Given the description of an element on the screen output the (x, y) to click on. 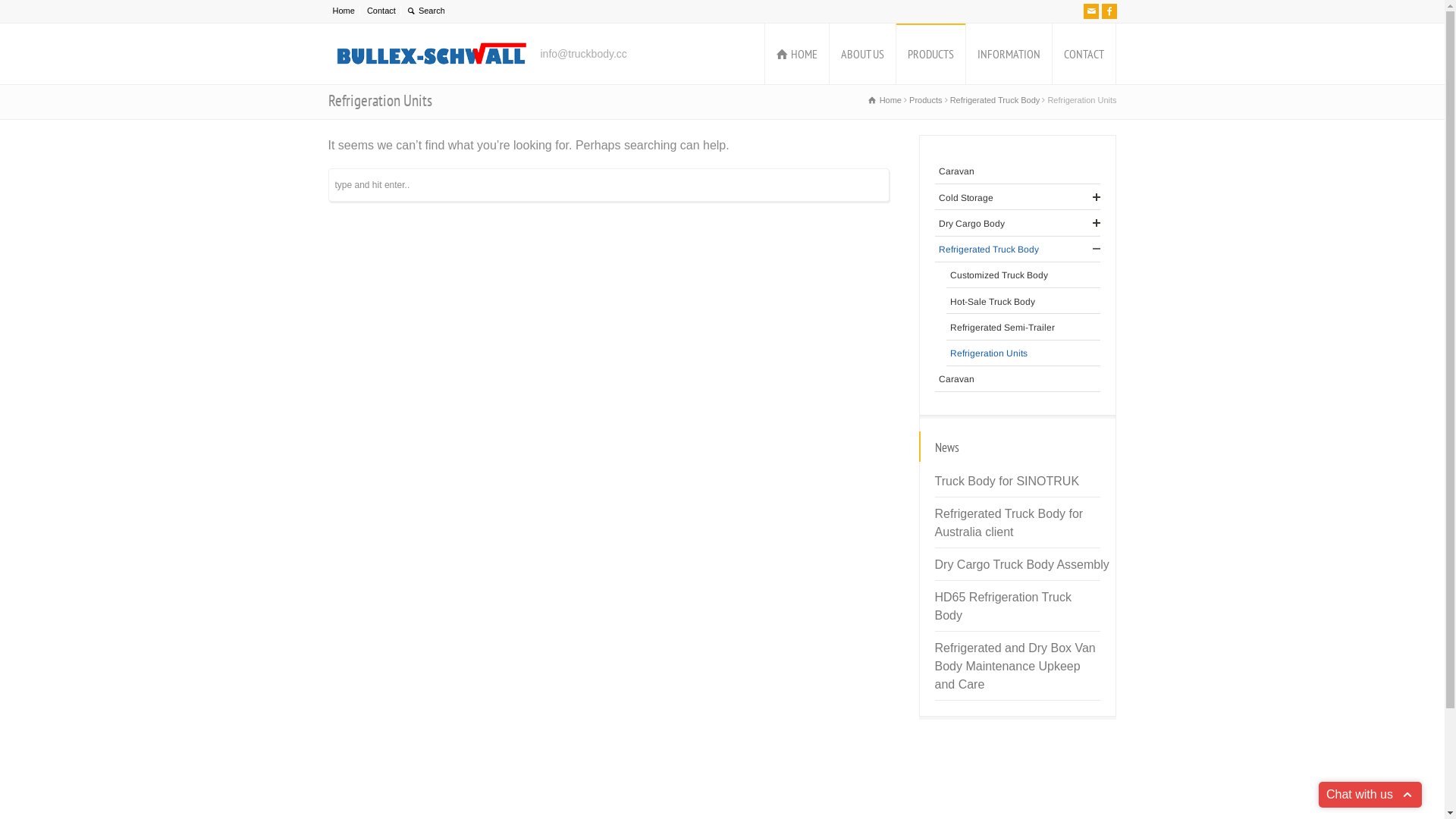
ABOUT US Element type: text (862, 53)
Refrigeration Units Element type: text (1024, 352)
HD65 Refrigeration Truck Body Element type: text (1002, 605)
Home Element type: text (343, 10)
PRODUCTS Element type: text (930, 53)
CONTACT Element type: text (1083, 53)
Refrigerated Semi-Trailer Element type: text (1024, 327)
Caravan Element type: text (1019, 378)
Caravan Element type: text (1019, 170)
Hot-Sale Truck Body Element type: text (1024, 301)
Truck Body for SINOTRUK Element type: text (1006, 480)
HOME Element type: text (796, 53)
Refrigerated Truck Body Element type: text (1019, 249)
Products Element type: text (925, 99)
Bullex-Schwall Element type: hover (429, 53)
Customized Truck Body Element type: text (1024, 274)
Refrigerated Truck Body Element type: text (995, 99)
Facebook Element type: hover (1108, 10)
Dry Cargo Body Element type: text (1019, 223)
Refrigerated Truck Body for Australia client Element type: text (1008, 522)
INFORMATION Element type: text (1008, 53)
Cold Storage Element type: text (1019, 197)
Email Element type: hover (1090, 10)
Home Element type: text (884, 99)
Dry Cargo Truck Body Assembly  Element type: text (1023, 564)
Contact Element type: text (381, 10)
